Given the description of an element on the screen output the (x, y) to click on. 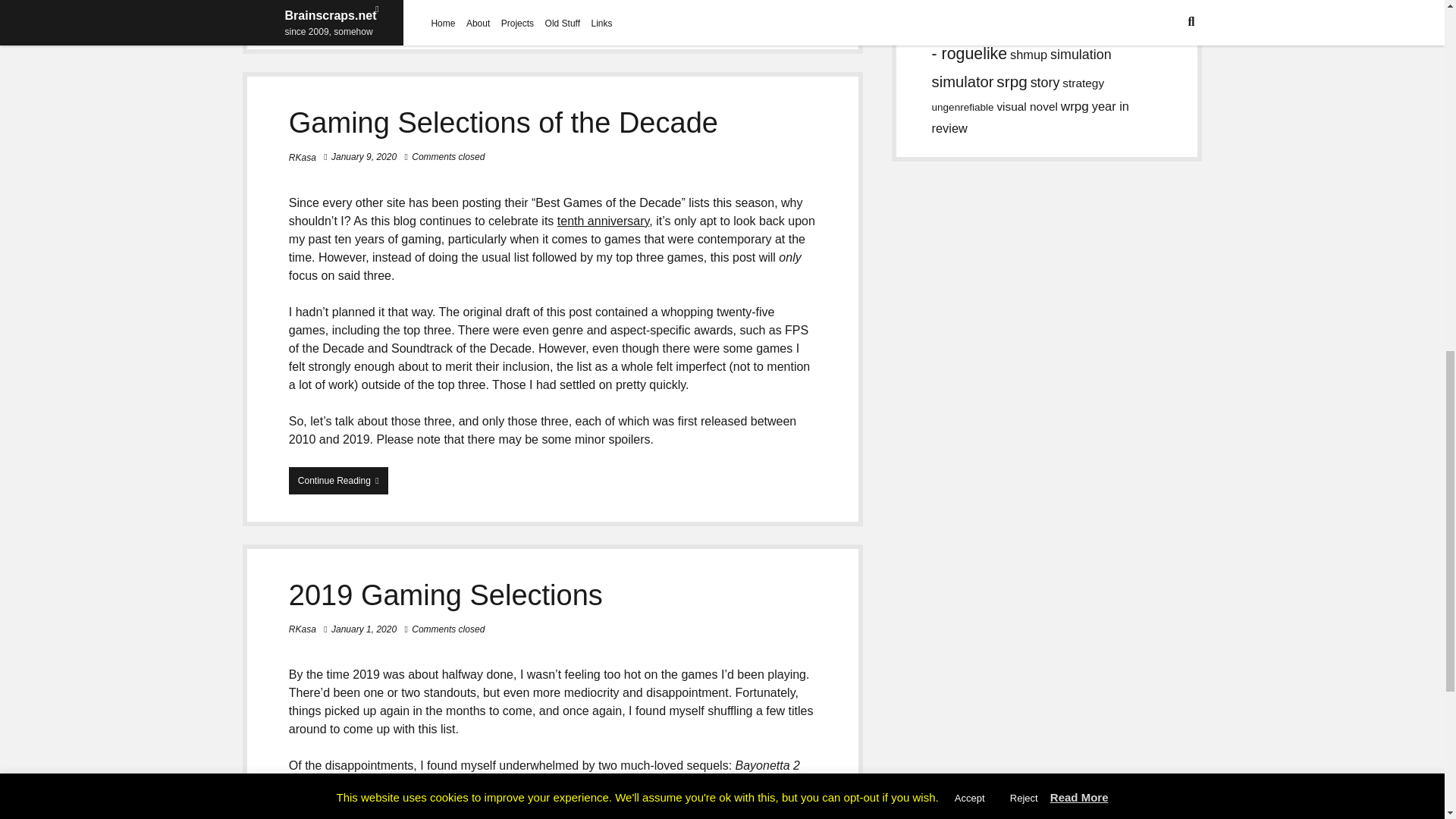
Gaming Selections of the Decade (502, 122)
RKasa (301, 629)
RKasa (338, 480)
tenth anniversary (301, 157)
January 9, 2020 (603, 220)
2019 Gaming Selections (363, 156)
January 1, 2020 (445, 594)
